Given the description of an element on the screen output the (x, y) to click on. 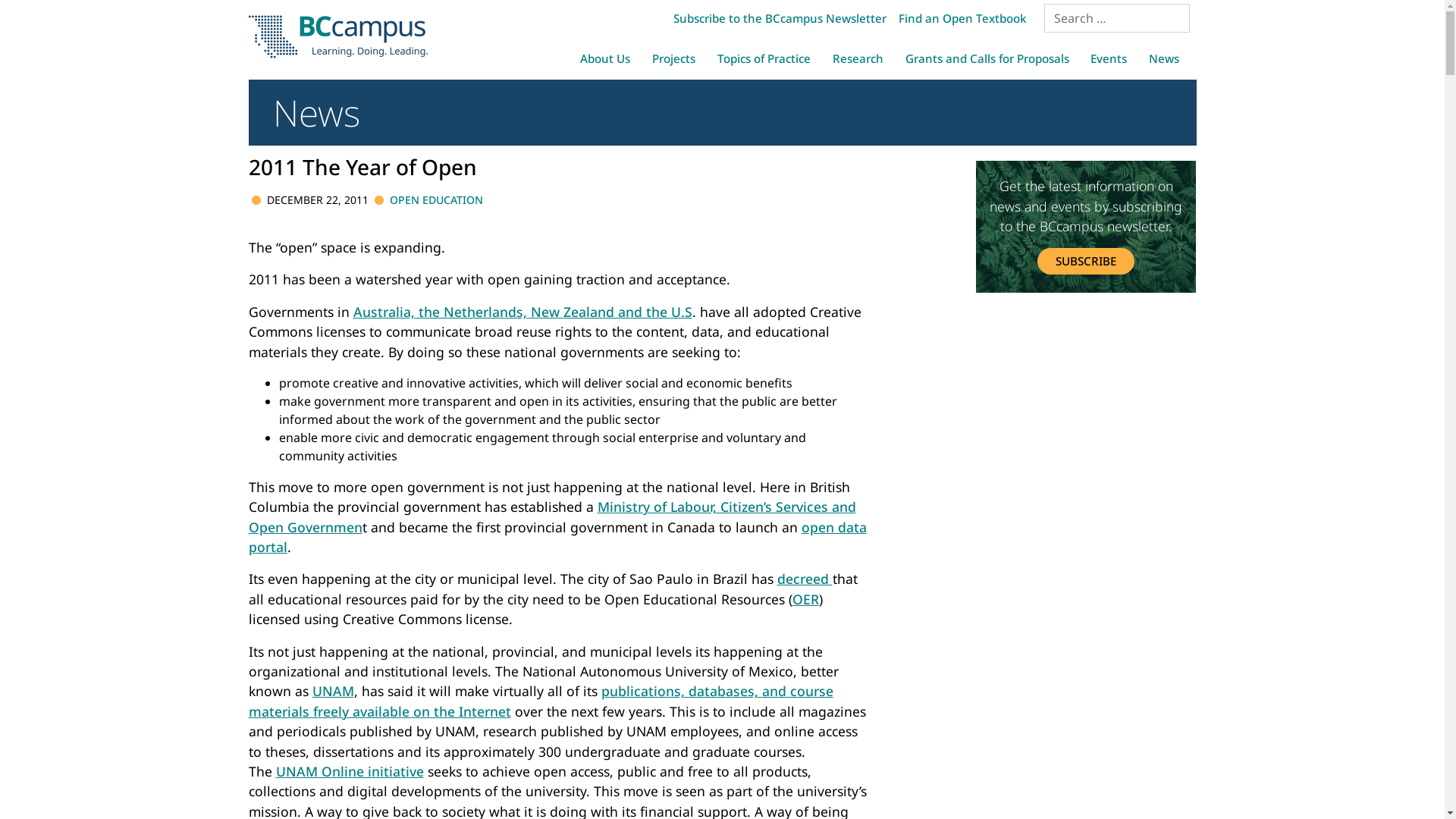
OPEN EDUCATION Element type: text (436, 199)
Search Element type: text (29, 14)
Subscribe to the BCcampus Newsletter Element type: text (779, 18)
Topics of Practice Element type: text (764, 58)
open data portal Element type: text (557, 536)
Projects Element type: text (673, 58)
UNAM Element type: text (333, 690)
About Us Element type: text (605, 58)
OER Element type: text (804, 598)
Find an Open Textbook Element type: text (962, 18)
News Element type: text (1164, 58)
Research Element type: text (857, 58)
SUBSCRIBE Element type: text (1085, 260)
Australia, the Netherlands, New Zealand and the U.S Element type: text (522, 311)
Grants and Calls for Proposals Element type: text (986, 58)
UNAM Online initiative Element type: text (349, 771)
decreed  Element type: text (803, 578)
Events Element type: text (1108, 58)
